Given the description of an element on the screen output the (x, y) to click on. 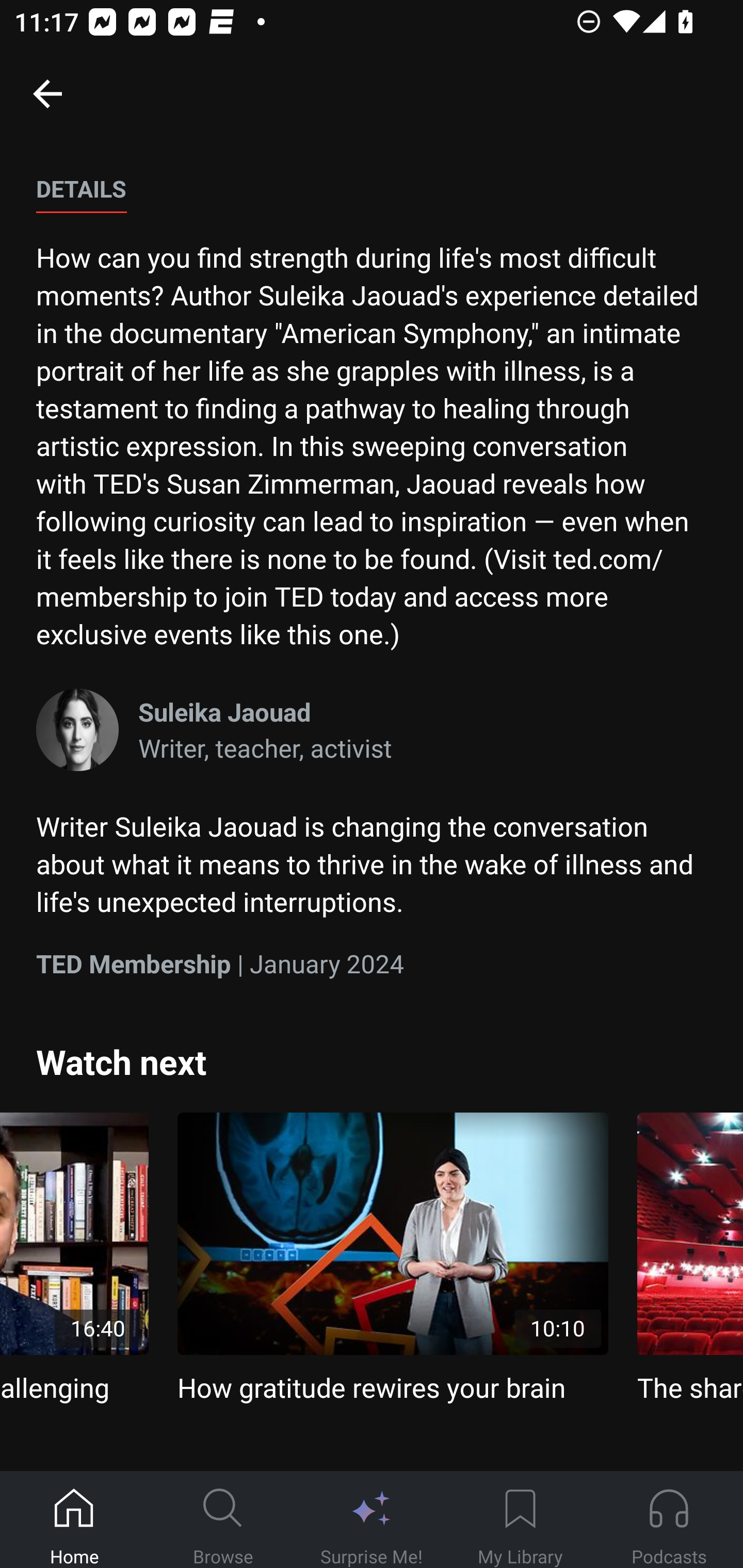
Home, back (47, 92)
DETAILS (80, 189)
10:10 How gratitude rewires your brain (392, 1258)
Home (74, 1520)
Browse (222, 1520)
Surprise Me! (371, 1520)
My Library (519, 1520)
Podcasts (668, 1520)
